Given the description of an element on the screen output the (x, y) to click on. 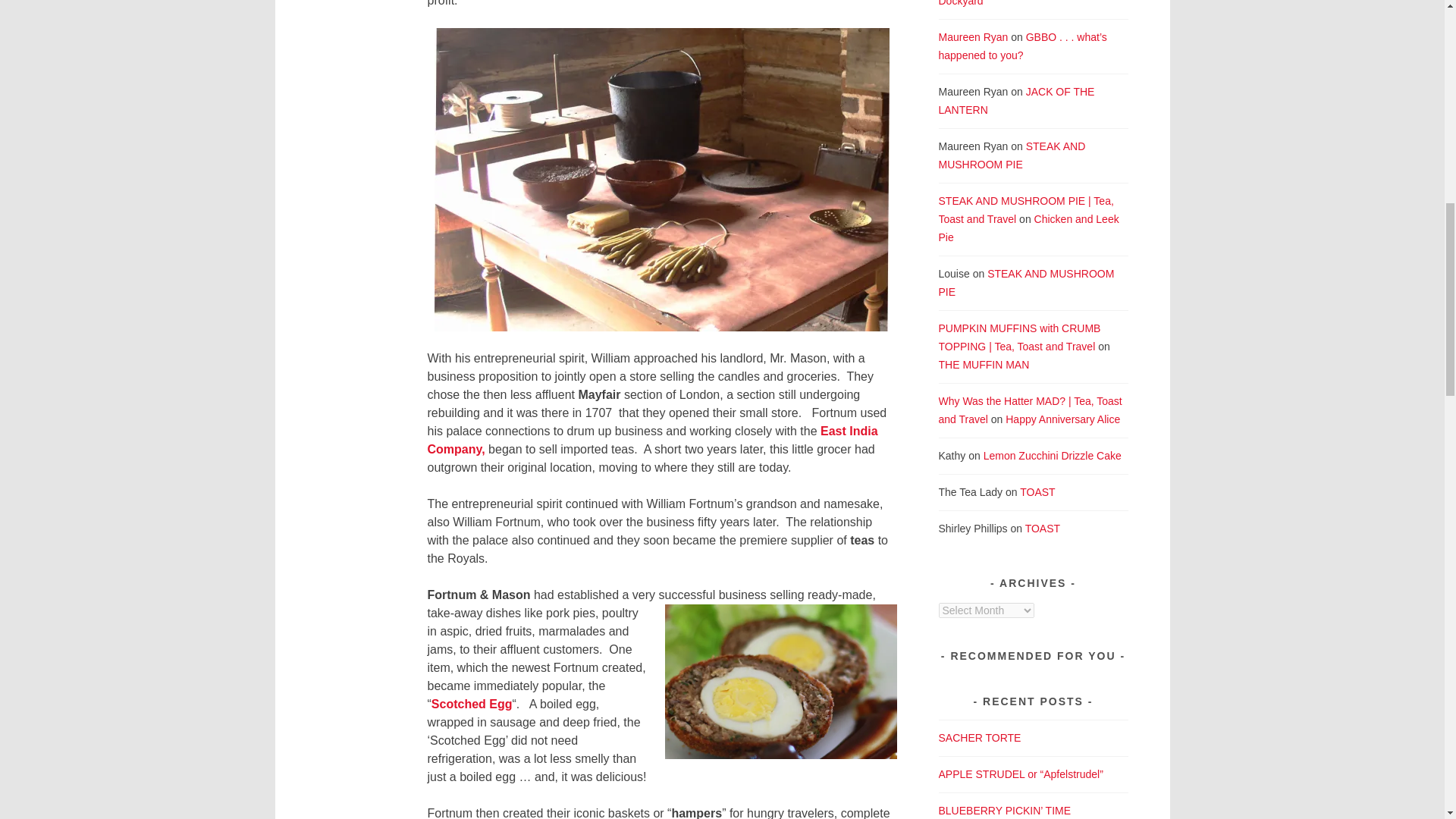
JACK OF THE LANTERN (1016, 100)
East India Company, (652, 440)
STEAK AND MUSHROOM PIE (1027, 282)
Scotched Egg (471, 703)
Maureen Ryan (974, 37)
STEAK AND MUSHROOM PIE (1012, 155)
Chicken and Leek Pie (1029, 227)
